Given the description of an element on the screen output the (x, y) to click on. 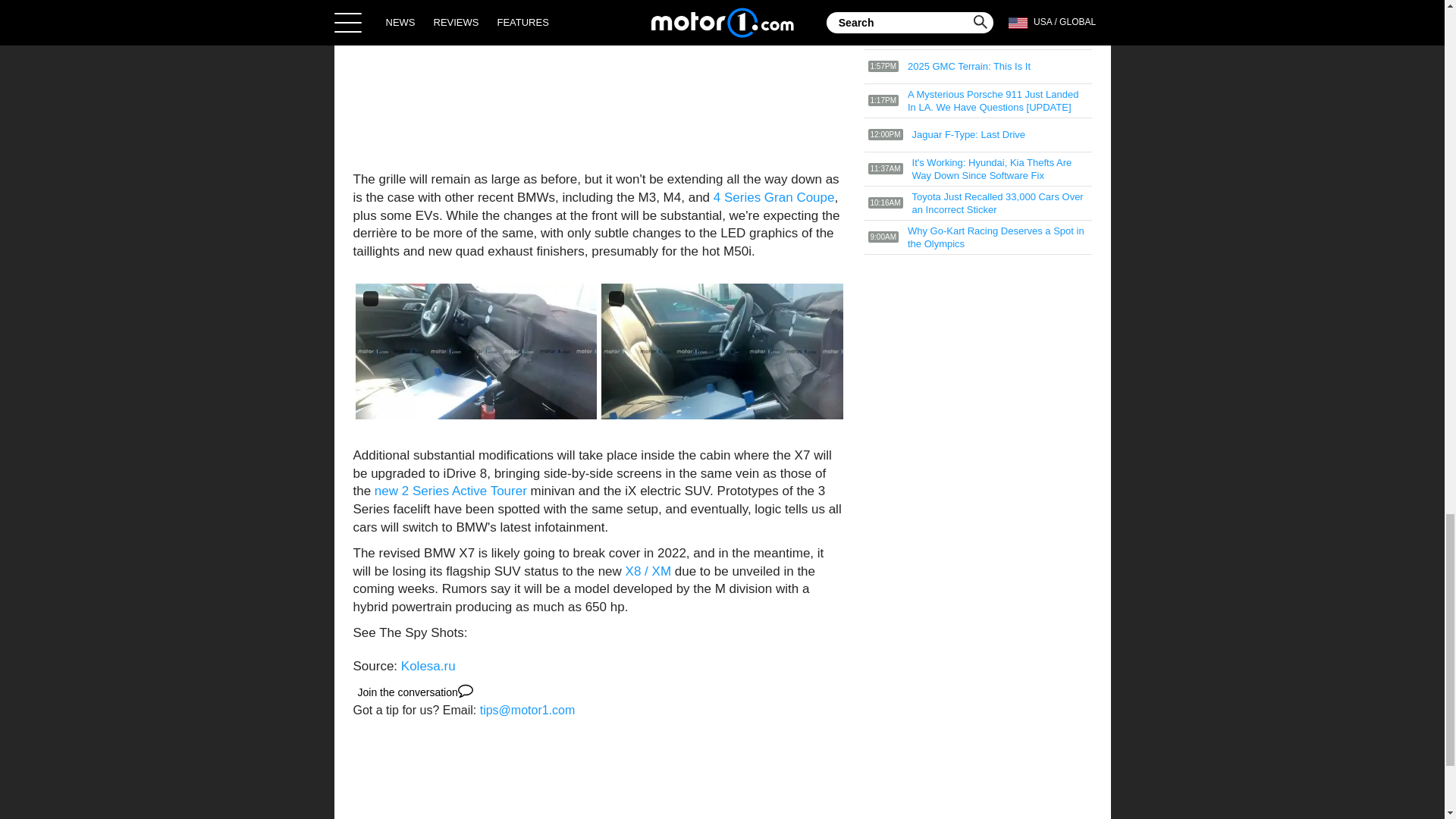
4 Series Gran Coupe (773, 197)
Join the conversation (415, 692)
new 2 Series Active Tourer (450, 490)
Kolesa.ru (428, 666)
